Given the description of an element on the screen output the (x, y) to click on. 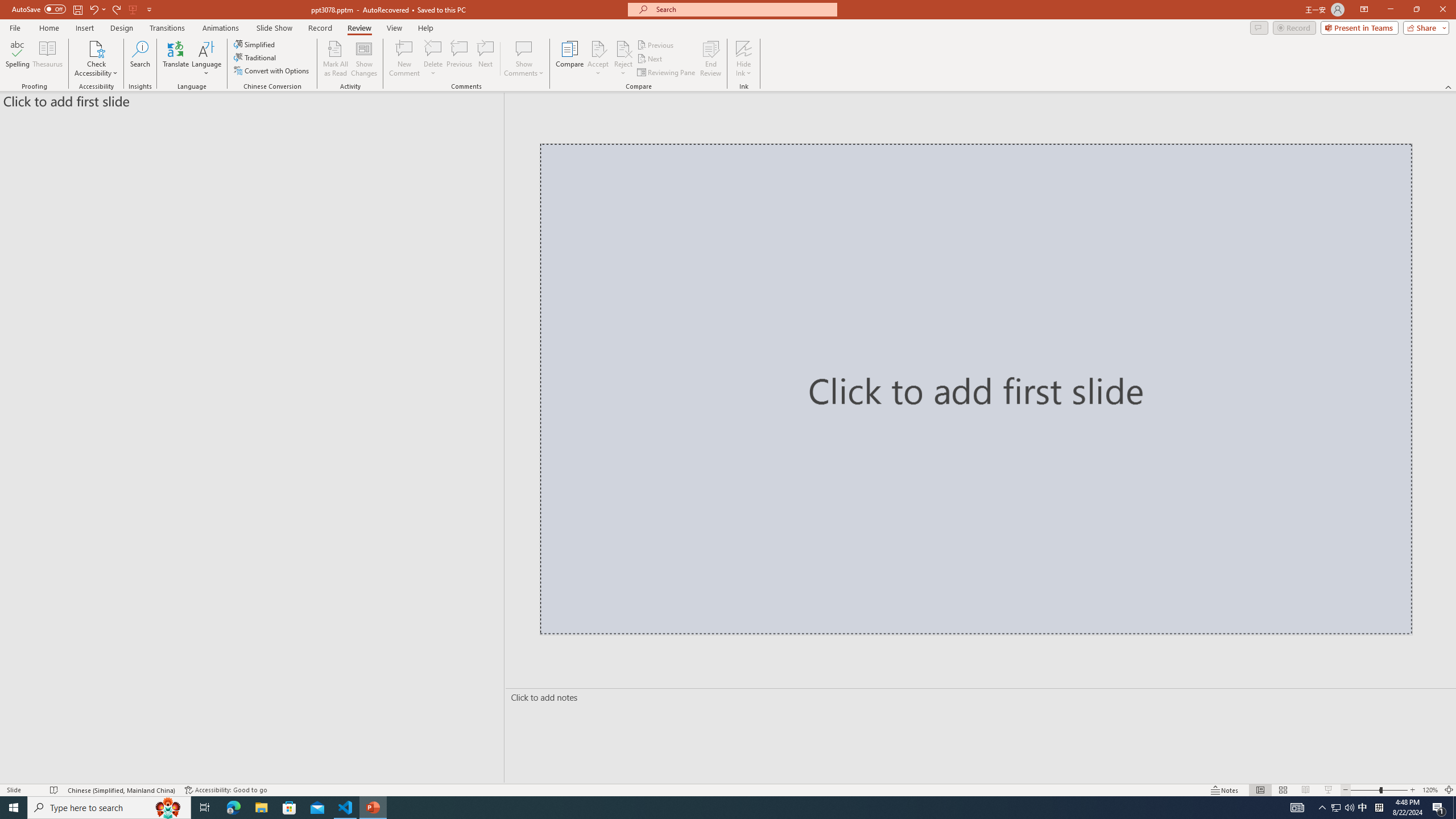
Accept Change (598, 48)
Mark All as Read (335, 58)
Traditional (255, 56)
Check Accessibility (95, 58)
Delete (432, 48)
Show Comments (524, 48)
Spelling... (17, 58)
